Given the description of an element on the screen output the (x, y) to click on. 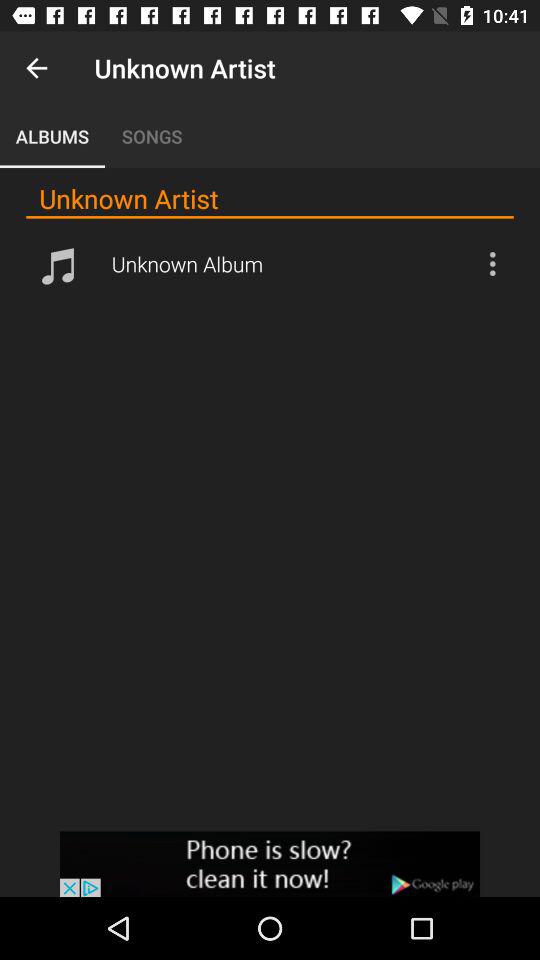
open advertisement (270, 864)
